Given the description of an element on the screen output the (x, y) to click on. 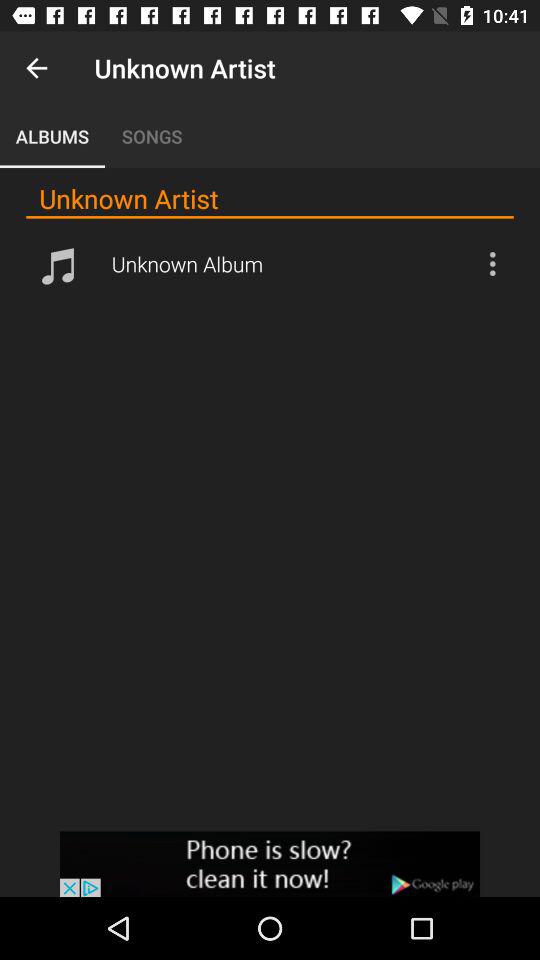
open advertisement (270, 864)
